Given the description of an element on the screen output the (x, y) to click on. 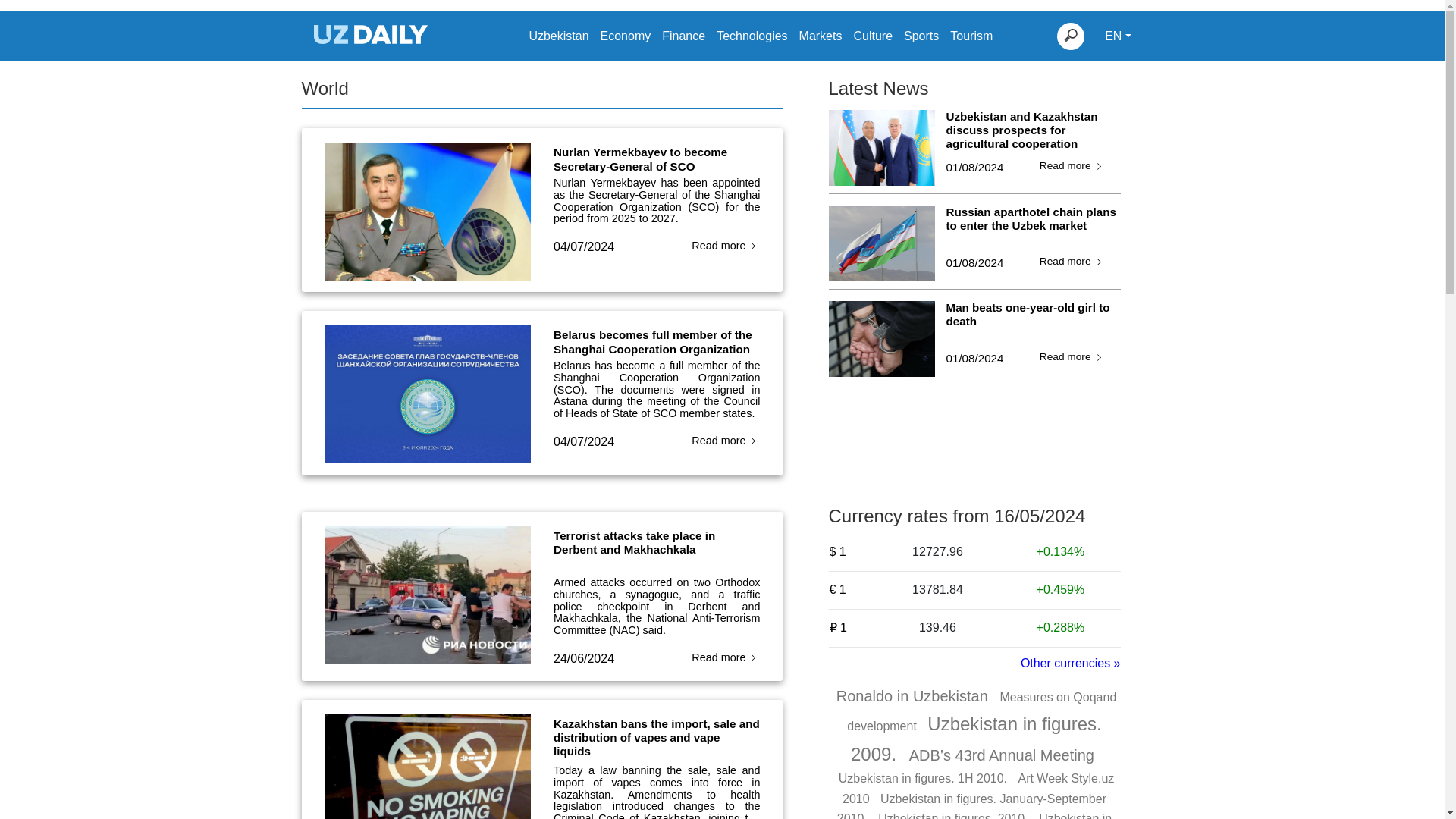
Finance (683, 35)
Tourism (971, 35)
Russian aparthotel chain plans to enter the Uzbek market (1033, 226)
Read more (1072, 166)
Economy (624, 35)
Technologies (751, 35)
Read more (725, 246)
EN (1118, 35)
Man beats one-year-old girl to death (1033, 322)
Search (1070, 35)
Read more (1072, 262)
Uzbekistan (558, 35)
Markets (821, 35)
Sports (921, 35)
